Given the description of an element on the screen output the (x, y) to click on. 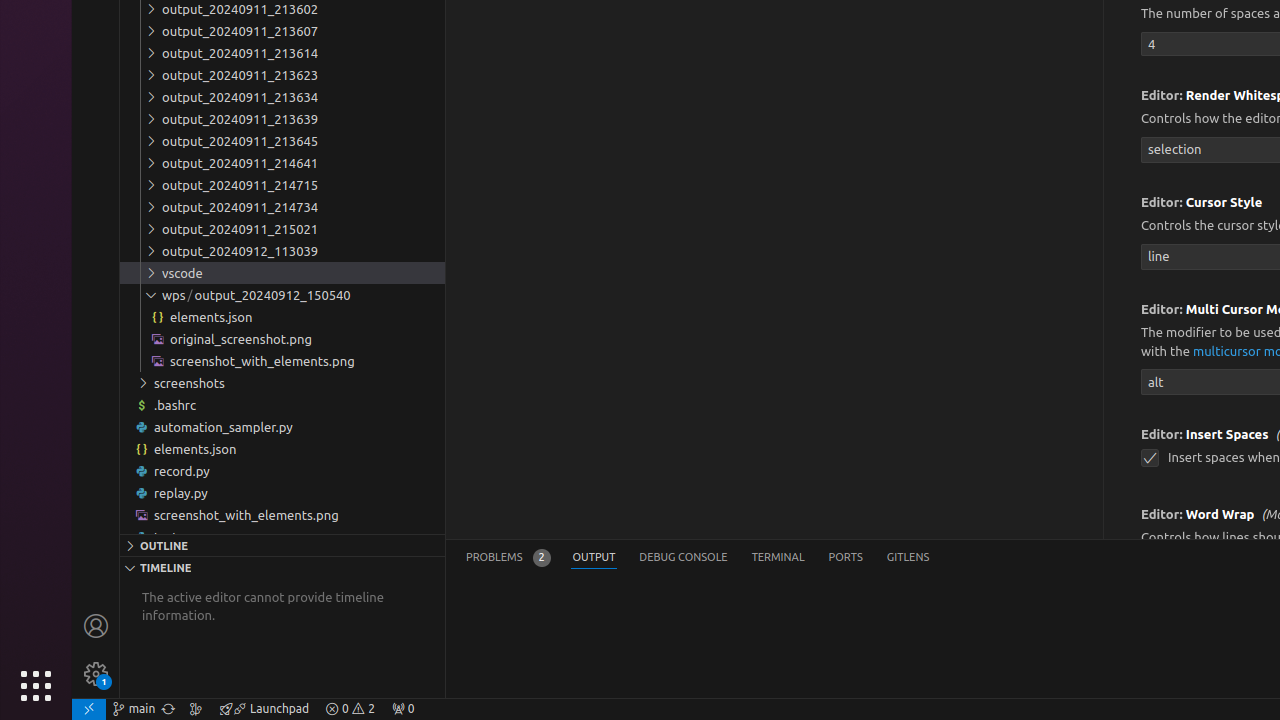
Accounts Element type: push-button (96, 626)
rocket gitlens-unplug Launchpad, GitLens Launchpad ᴘʀᴇᴠɪᴇᴡ    &mdash;    [$(question)](command:gitlens.launchpad.indicator.action?%22info%22 "What is this?") [$(gear)](command:workbench.action.openSettings?%22gitlens.launchpad%22 "Settings")  |  [$(circle-slash) Hide](command:gitlens.launchpad.indicator.action?%22hide%22 "Hide") --- [Launchpad](command:gitlens.launchpad.indicator.action?%info%22 "Learn about Launchpad") organizes your pull requests into actionable groups to help you focus and keep your team unblocked. It's always accessible using the `GitLens: Open Launchpad` command from the Command Palette. --- [Connect an integration](command:gitlens.showLaunchpad?%7B%22source%22%3A%22launchpad-indicator%22%7D "Connect an integration") to get started. Element type: push-button (264, 709)
test.py Element type: tree-item (282, 537)
Output (Ctrl+K Ctrl+H) Element type: page-tab (594, 557)
output_20240911_214641 Element type: tree-item (282, 163)
